Given the description of an element on the screen output the (x, y) to click on. 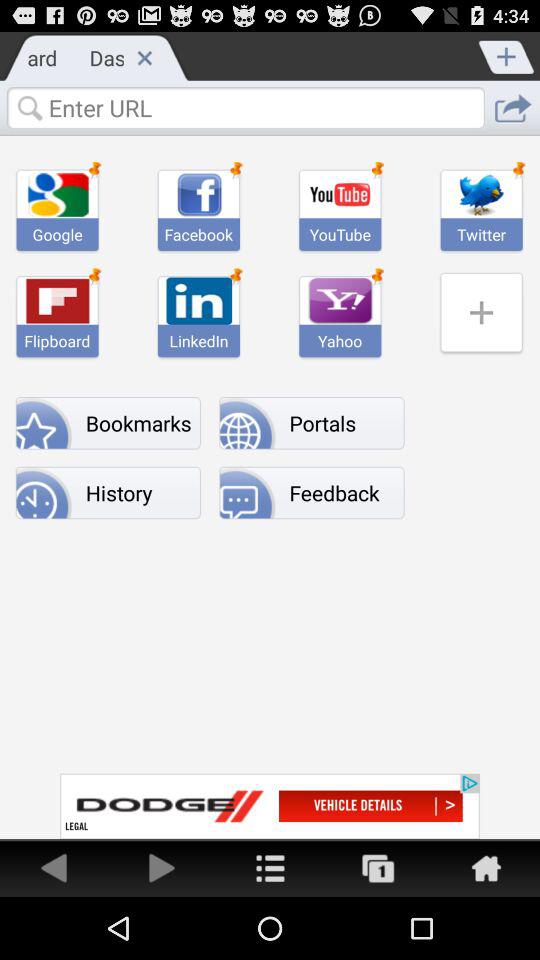
advertisement to redirect you to dodge website (270, 806)
